Given the description of an element on the screen output the (x, y) to click on. 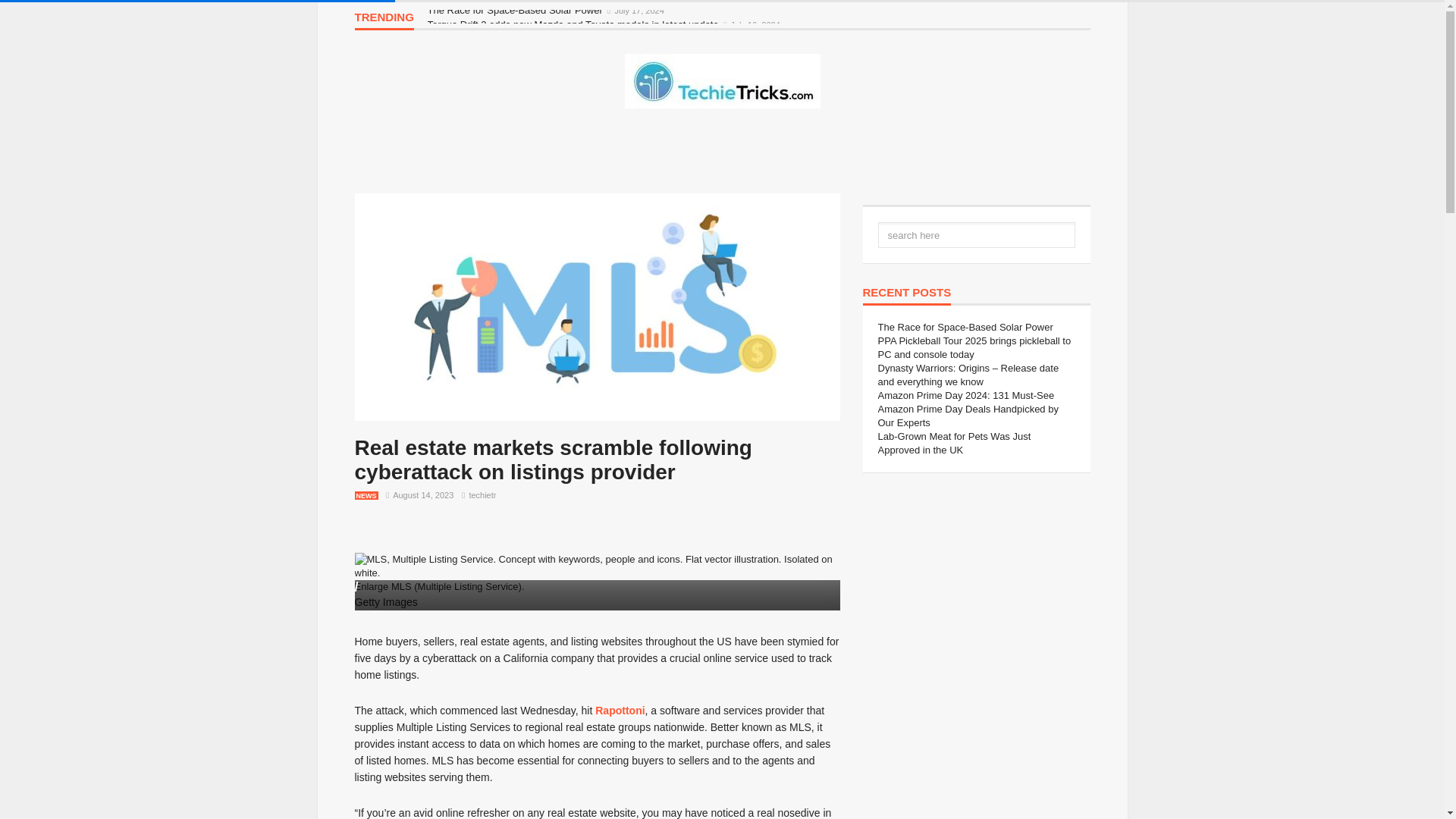
NEWS (366, 495)
Rapottoni (620, 710)
The Race for Space-Based Solar Power (964, 326)
techietr (482, 494)
Lab-Grown Meat for Pets Was Just Approved in the UK (953, 442)
News (366, 495)
TRENDING (384, 20)
The Race for Space-Based Solar Power (516, 9)
Enlarge (371, 586)
